Given the description of an element on the screen output the (x, y) to click on. 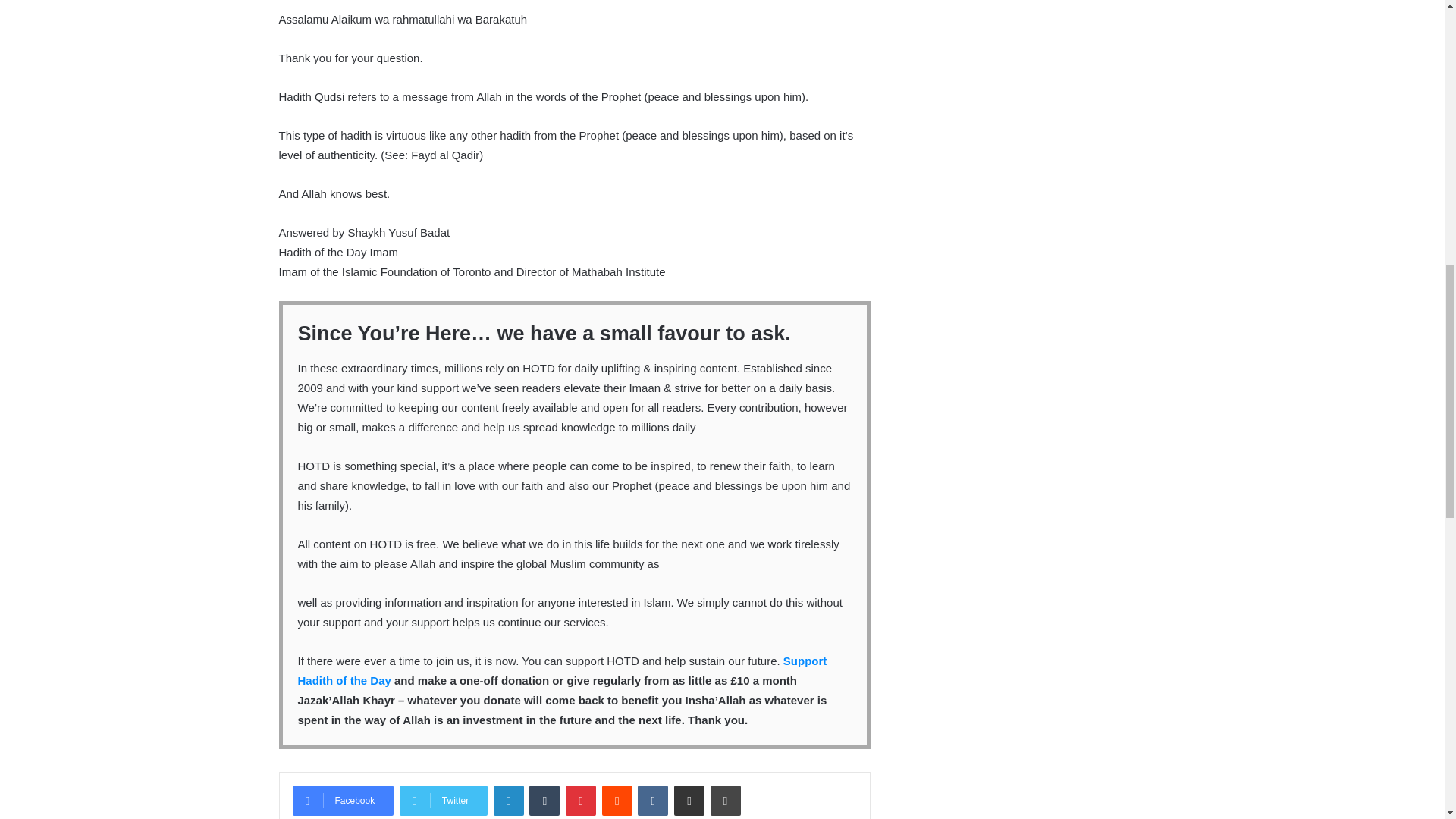
Print (725, 800)
Share via Email (689, 800)
Tumblr (544, 800)
Tumblr (544, 800)
Share via Email (689, 800)
Facebook (343, 800)
Twitter (442, 800)
Twitter (442, 800)
Support Hadith of the Day (562, 670)
Pinterest (580, 800)
